Given the description of an element on the screen output the (x, y) to click on. 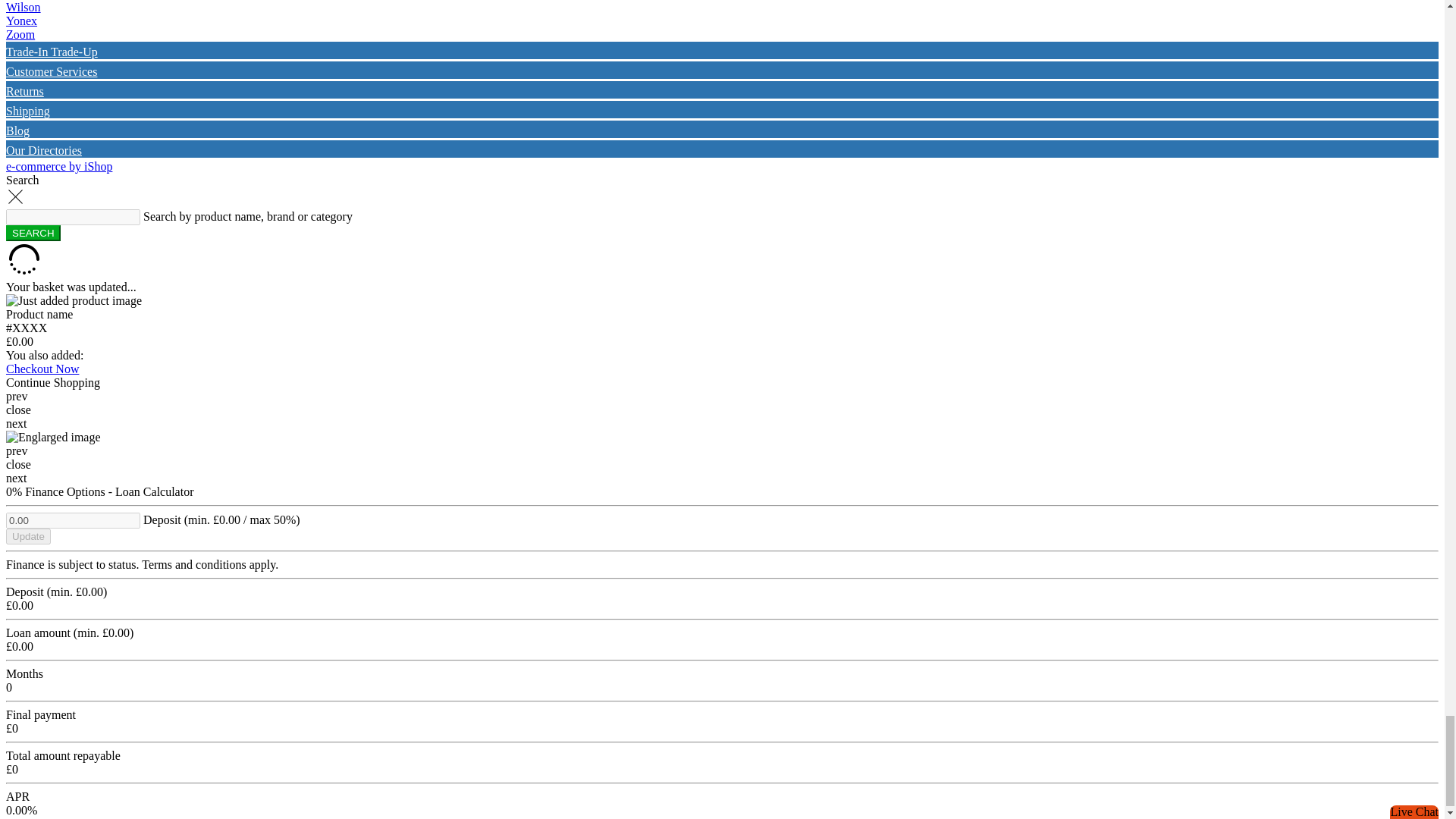
0.00 (72, 520)
